Given the description of an element on the screen output the (x, y) to click on. 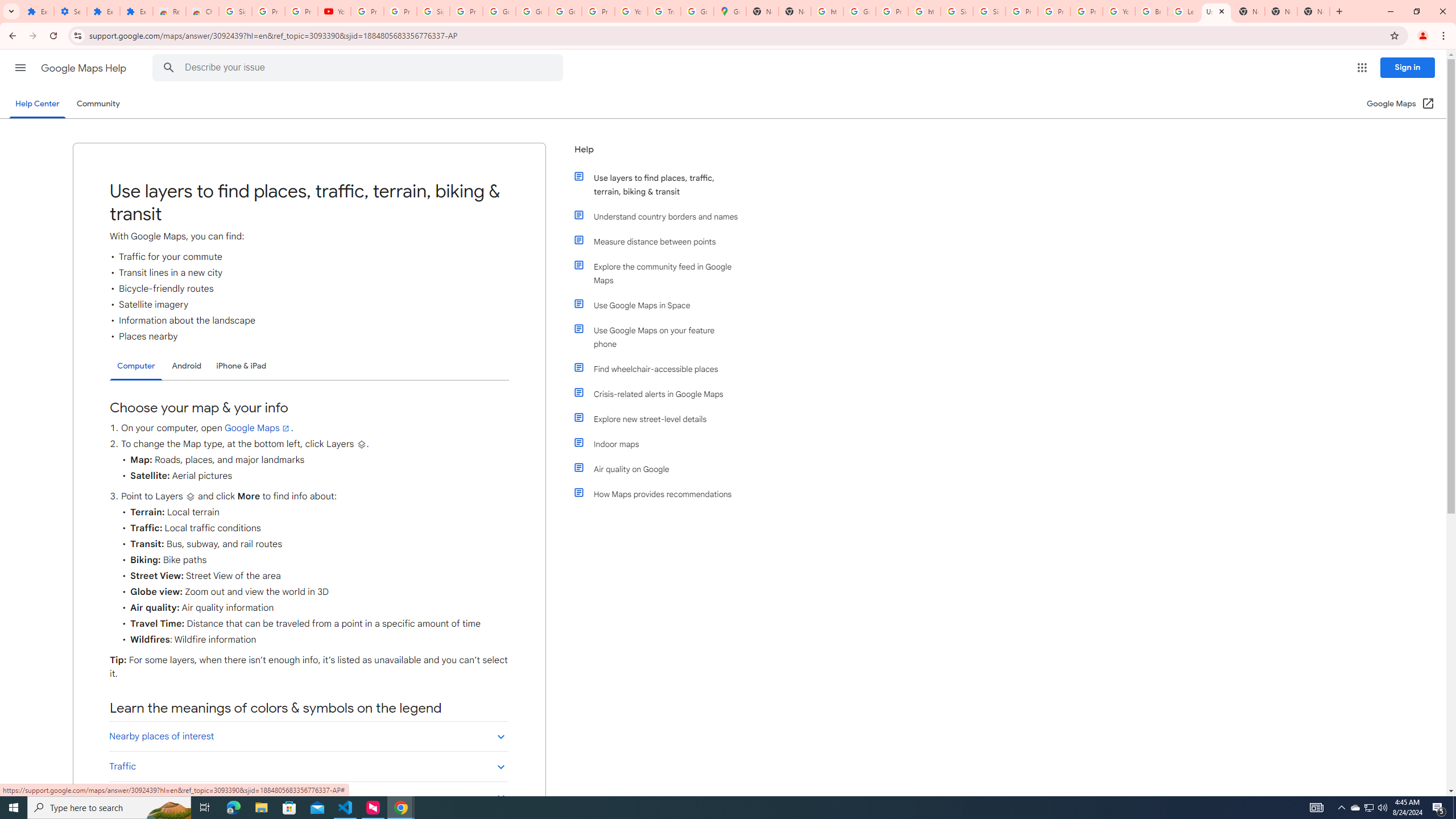
iPhone & iPad (240, 365)
Google Maps (257, 428)
Computer (136, 366)
New Tab (1281, 11)
Google Maps Help (84, 68)
Android (186, 365)
Reviews: Helix Fruit Jump Arcade Game (169, 11)
Crisis-related alerts in Google Maps (661, 394)
Privacy Help Center - Policies Help (1053, 11)
Explore the community feed in Google Maps (661, 273)
